Given the description of an element on the screen output the (x, y) to click on. 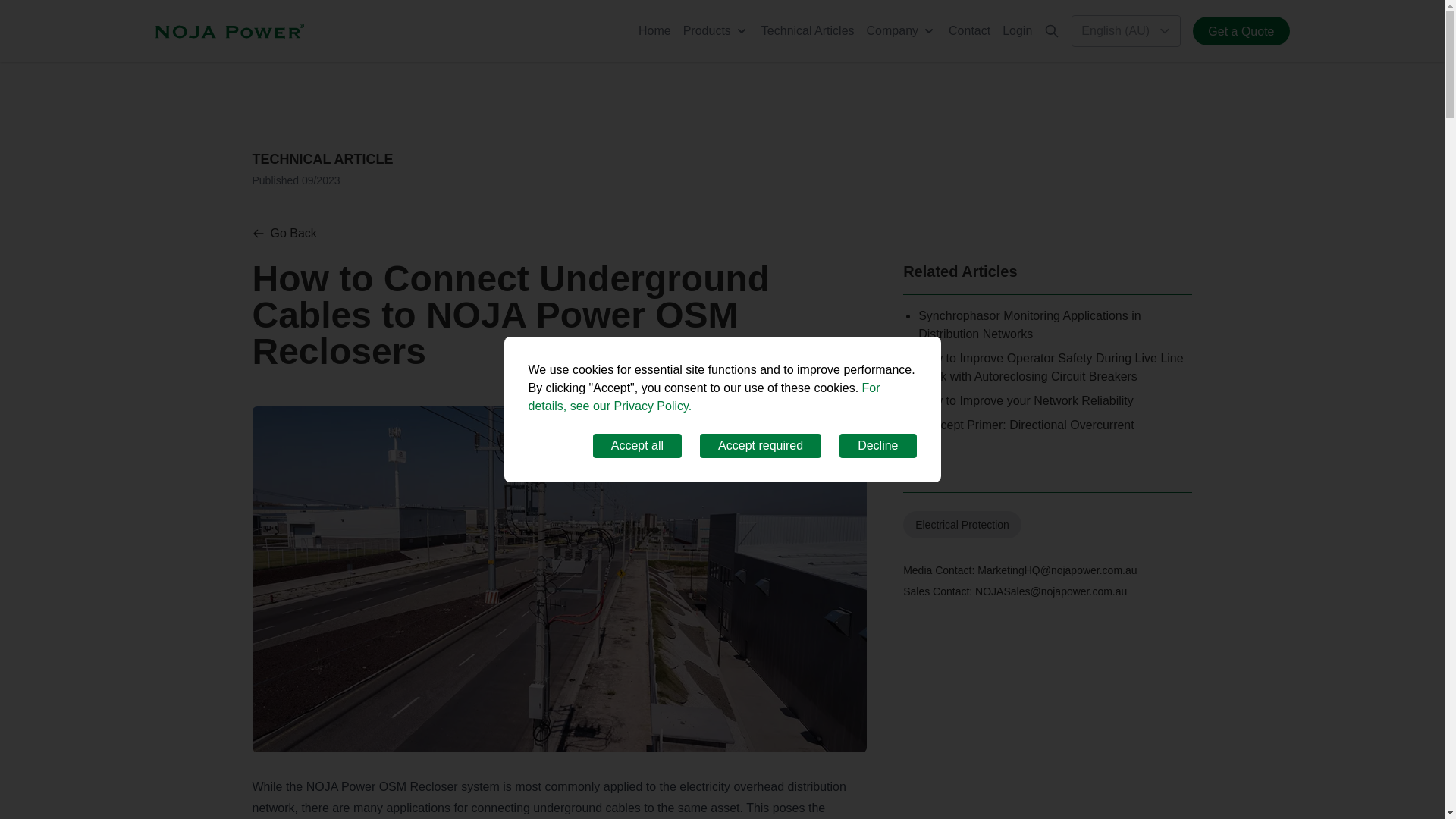
Products (715, 31)
Concept Primer: Directional Overcurrent (1026, 424)
Go Back (283, 233)
Accept required (760, 445)
Get a Quote (1240, 30)
Company (901, 31)
Search site (1051, 30)
Electrical Protection (962, 524)
Technical Articles (807, 30)
Accept all (636, 445)
